Given the description of an element on the screen output the (x, y) to click on. 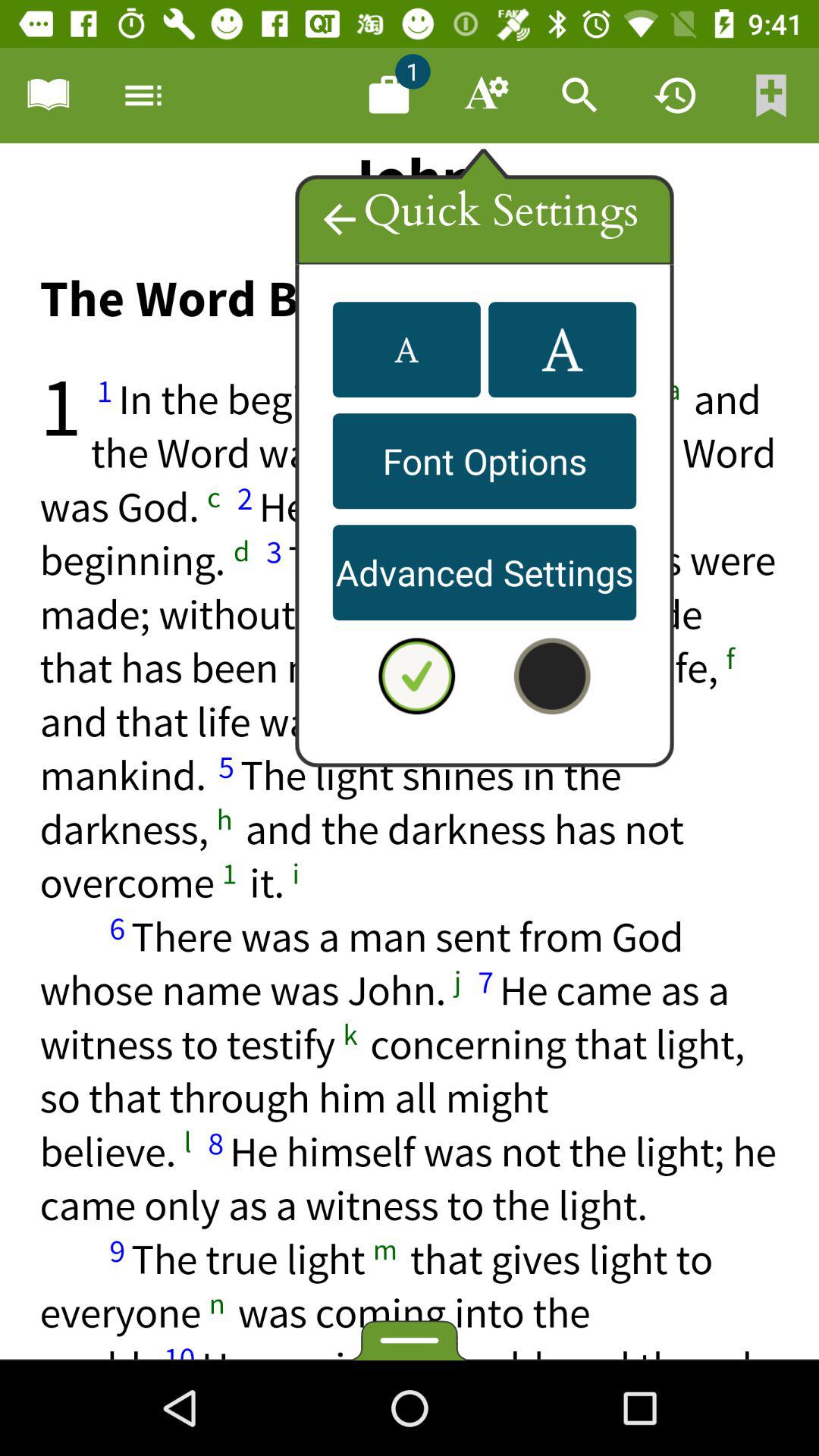
bookmark (47, 95)
